Given the description of an element on the screen output the (x, y) to click on. 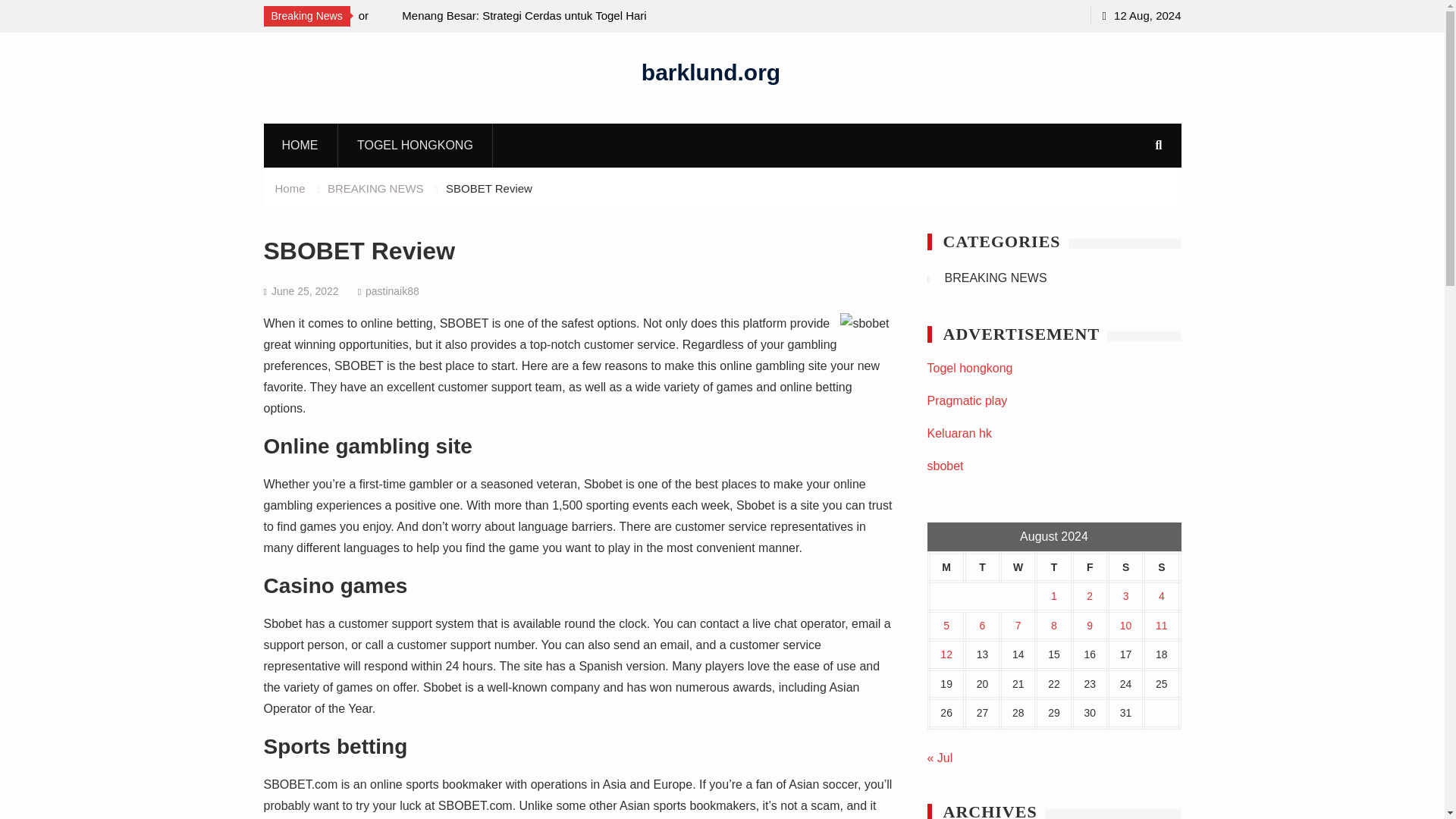
TOGEL HONGKONG (415, 144)
BREAKING NEWS (995, 277)
Togel hongkong (968, 367)
Keluaran hk (958, 432)
11 (1161, 625)
Wednesday (1017, 567)
barklund.org (711, 71)
10 (1125, 625)
Saturday (1125, 567)
